Given the description of an element on the screen output the (x, y) to click on. 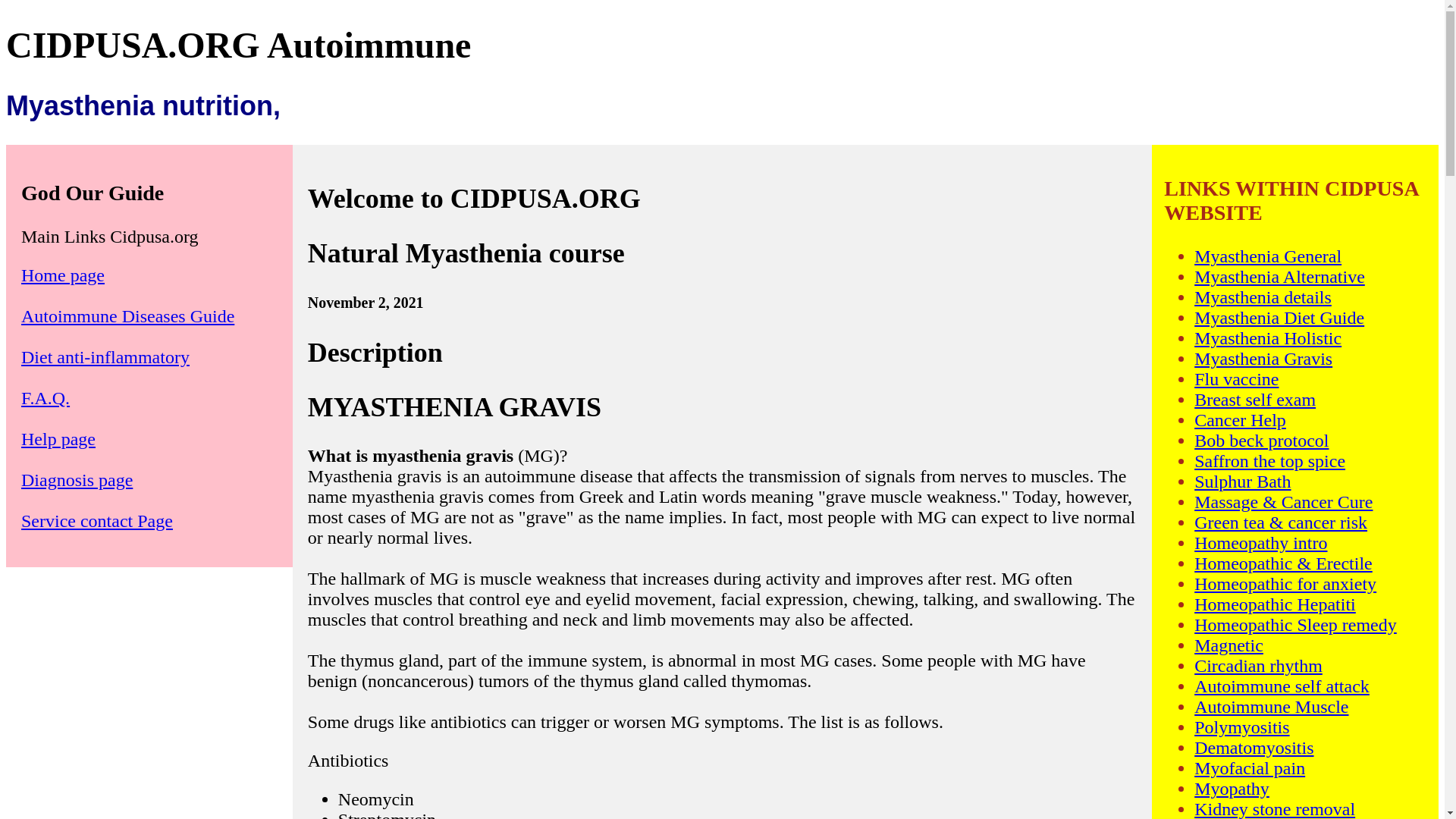
Help page (58, 438)
Bob beck protocol (1260, 440)
Myasthenia Holistic (1266, 338)
Home page (62, 275)
Kidney stone removal (1274, 809)
Magnetic (1228, 645)
Myasthenia Diet Guide (1278, 317)
Breast self exam (1254, 399)
Autoimmune self attack (1281, 686)
Myasthenia details (1262, 297)
Diet anti-inflammatory (105, 356)
Diagnosis page (76, 479)
Myofacial pain (1248, 768)
Homeopathy intro (1259, 542)
Autoimmune Diseases Guide (127, 315)
